Given the description of an element on the screen output the (x, y) to click on. 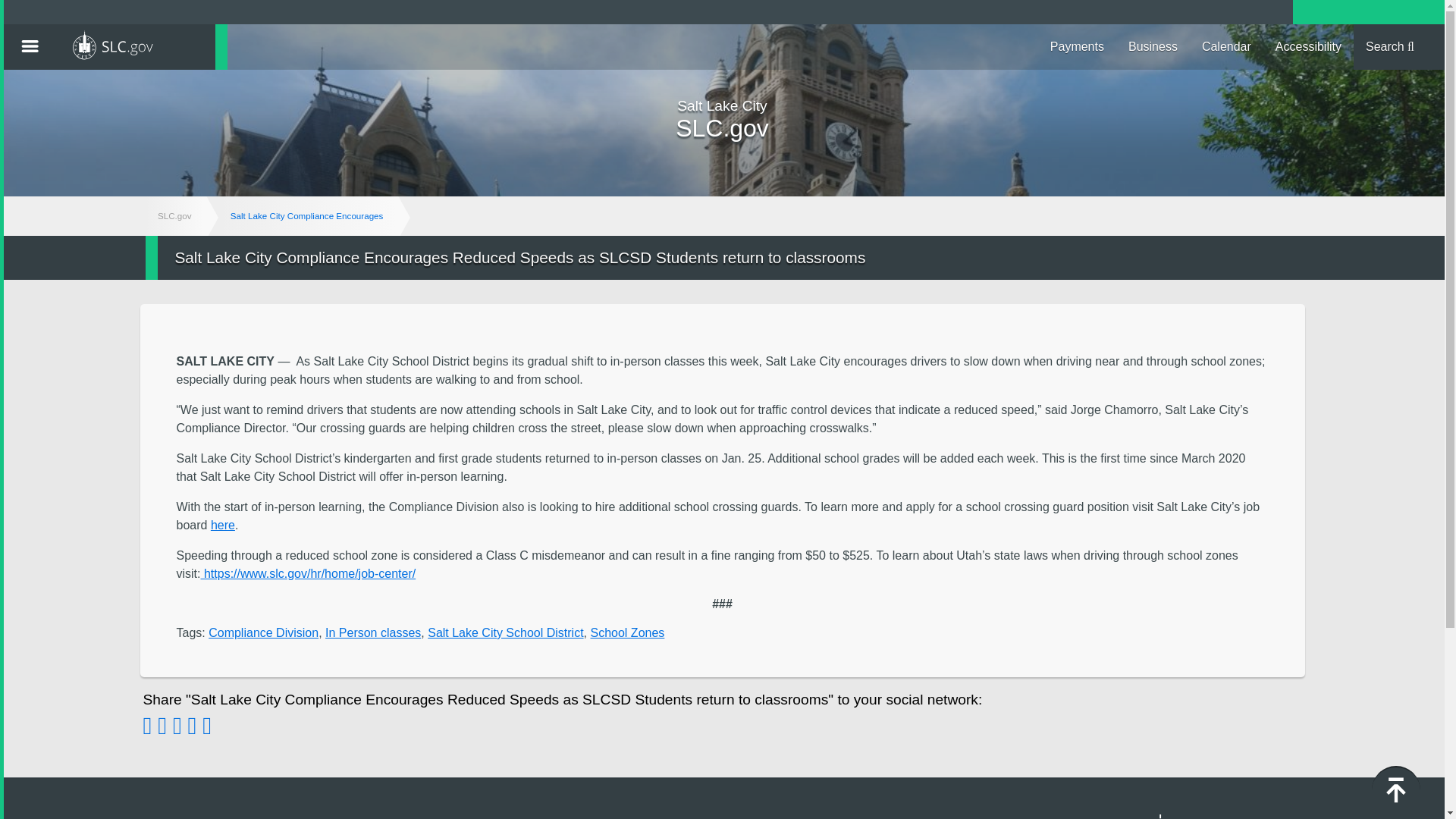
Calendar (1226, 46)
SLC.gov (138, 46)
Menu (30, 46)
Business (1152, 46)
Accessibility (1308, 46)
Payments (1077, 46)
SLC.gov (144, 46)
